Given the description of an element on the screen output the (x, y) to click on. 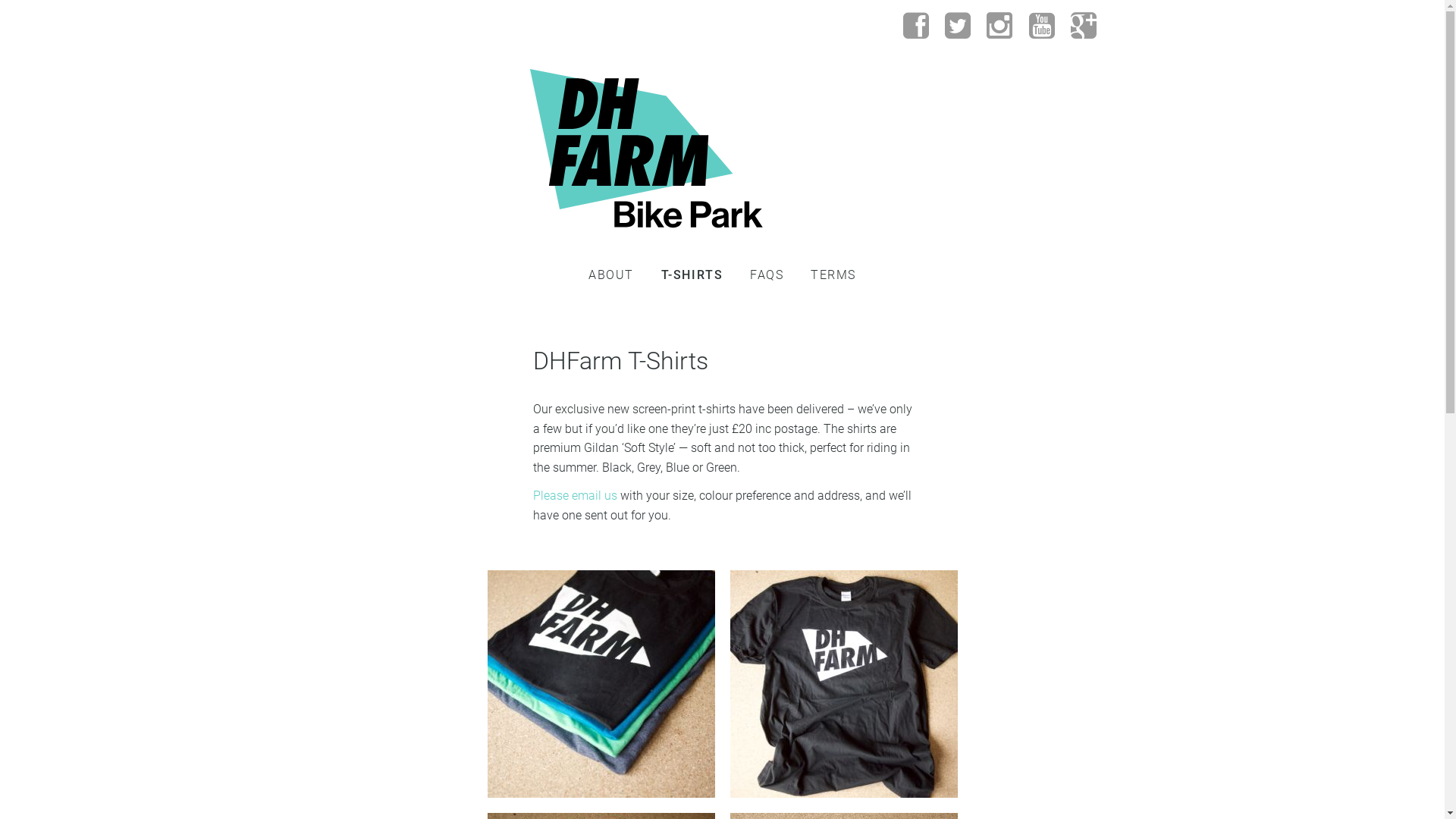
Please email us Element type: text (574, 495)
DHFarm Instagram Element type: hover (999, 25)
FAQS Element type: text (766, 274)
DHFarm-TShirt-Black Element type: hover (843, 793)
Follow us on Twitter Element type: hover (958, 25)
ABOUT Element type: text (610, 274)
DHFarm on Facebook Element type: hover (916, 25)
TERMS Element type: text (833, 274)
DHFarm Google+ Element type: hover (1084, 25)
T-SHIRTS Element type: text (692, 274)
DHFarm YouTube Channel Element type: hover (1042, 25)
DHFarm-TShirts-Stack Element type: hover (600, 793)
Follow DHFarm Element type: hover (999, 26)
DHFarm Bike Park Element type: text (645, 143)
